Given the description of an element on the screen output the (x, y) to click on. 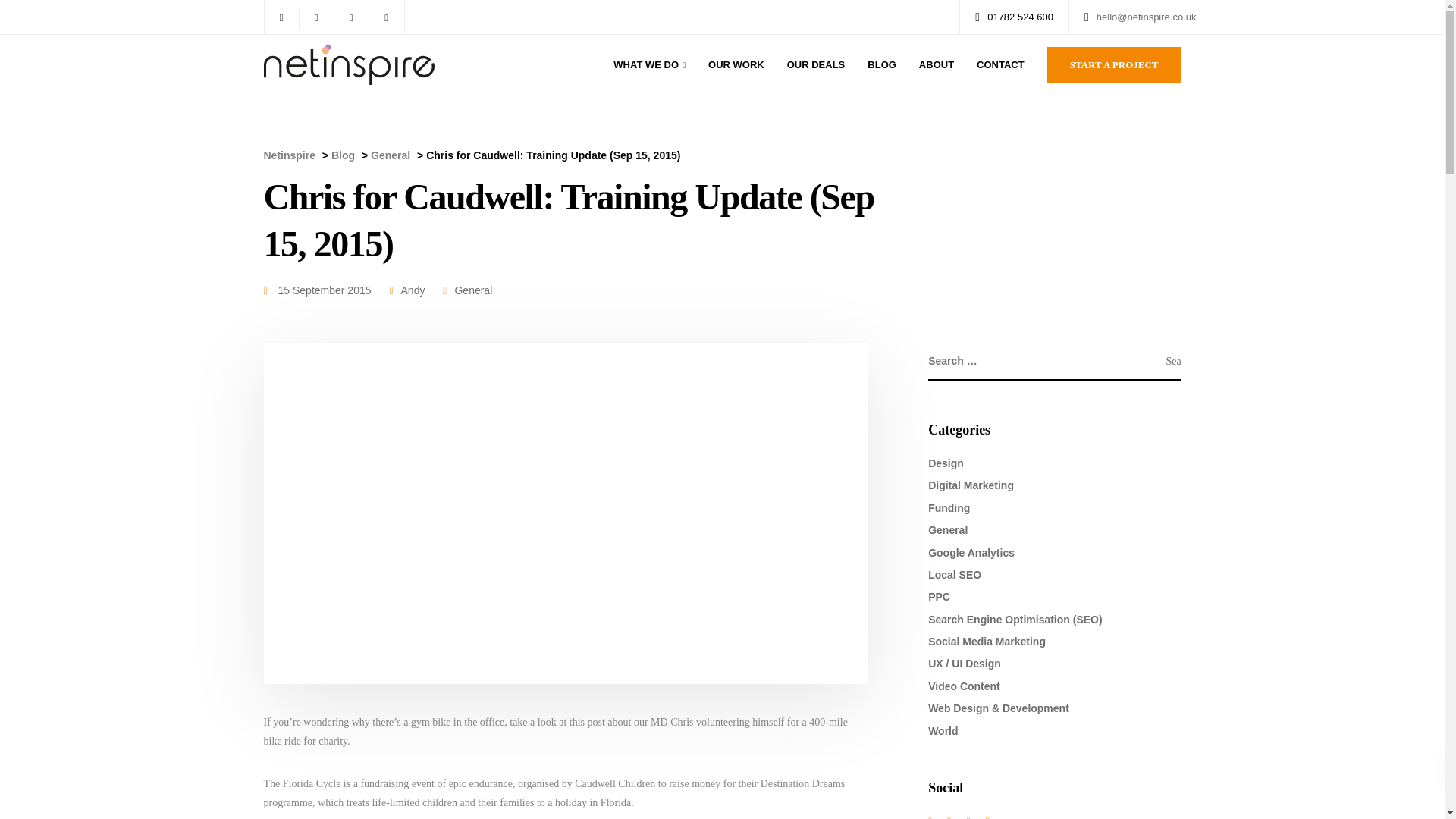
BLOG (881, 65)
General (473, 290)
OUR WORK (736, 65)
Search (1173, 361)
ABOUT (936, 65)
Andy (413, 290)
OUR DEALS (816, 65)
General (390, 155)
What We Do (649, 65)
CONTACT (1000, 65)
START A PROJECT (1113, 64)
Search (1173, 361)
WHAT WE DO (649, 65)
Search (1173, 361)
Netinspire (289, 155)
